Given the description of an element on the screen output the (x, y) to click on. 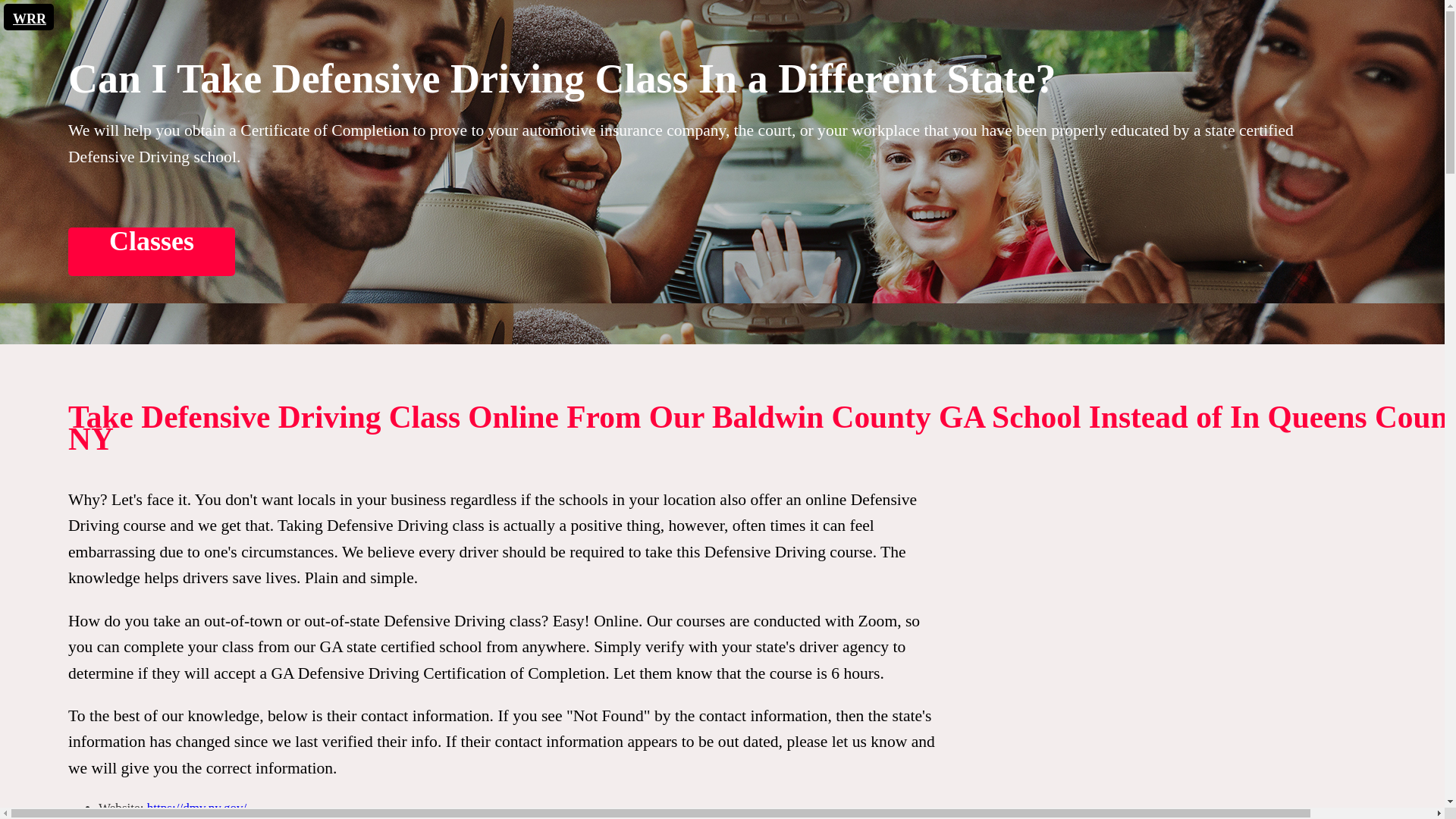
Classes (762, 251)
WRR (27, 18)
